Given the description of an element on the screen output the (x, y) to click on. 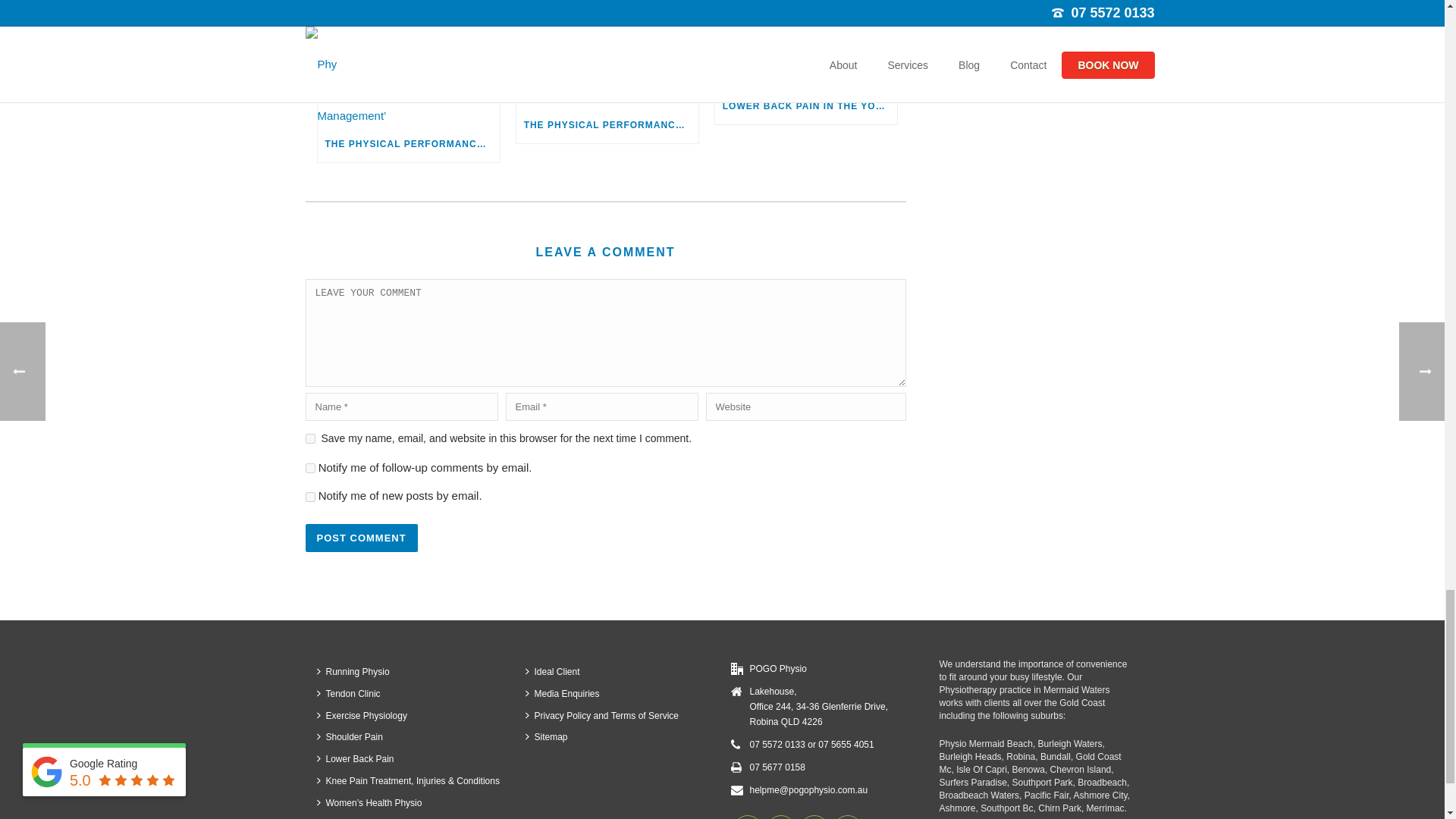
Follow Us on facebook (746, 816)
yes (309, 438)
subscribe (309, 468)
subscribe (309, 497)
Lower Back Pain in the Young Athlete (805, 68)
POST COMMENT (360, 538)
Follow Us on instagram (779, 816)
Follow Us on twitter (813, 816)
